Given the description of an element on the screen output the (x, y) to click on. 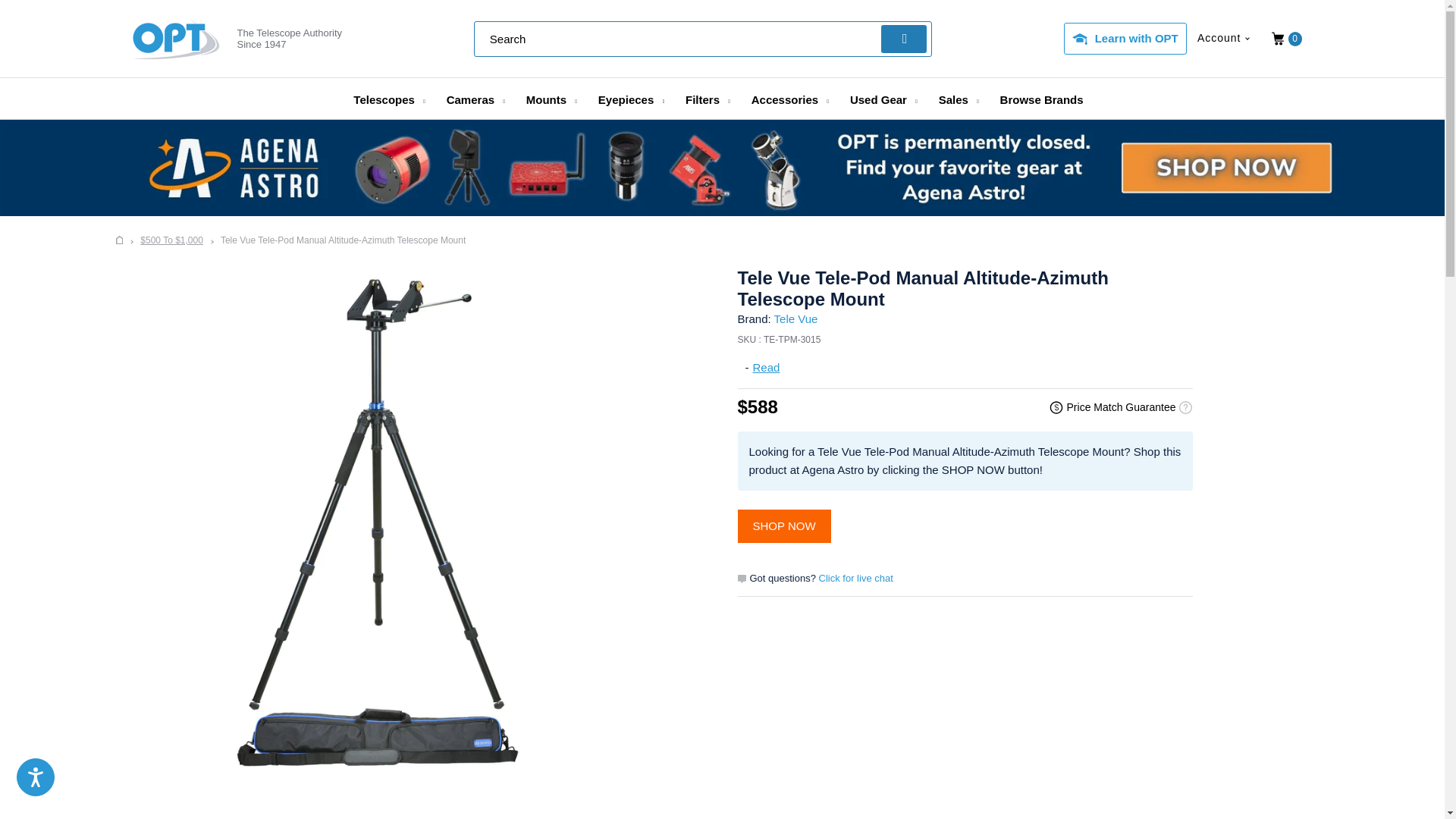
OPT Telescopes (120, 239)
OPT Telescopes (176, 39)
